Given the description of an element on the screen output the (x, y) to click on. 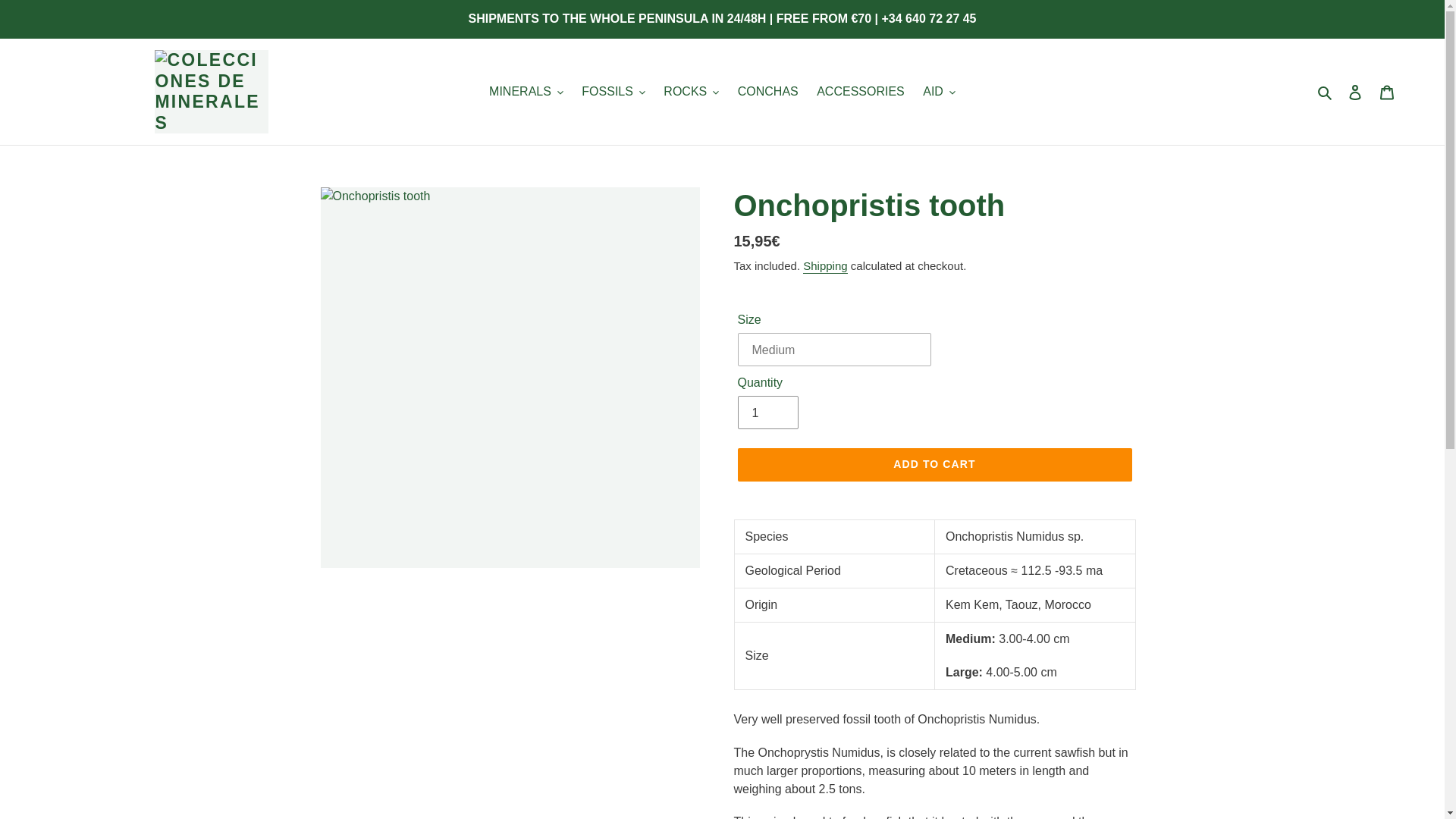
ROCKS (691, 91)
MINERALS (525, 91)
Log in (1355, 91)
FOSSILS (612, 91)
1 (766, 412)
AID (938, 91)
CONCHAS (768, 91)
Cart (1387, 91)
ACCESSORIES (860, 91)
Search (1326, 91)
